Given the description of an element on the screen output the (x, y) to click on. 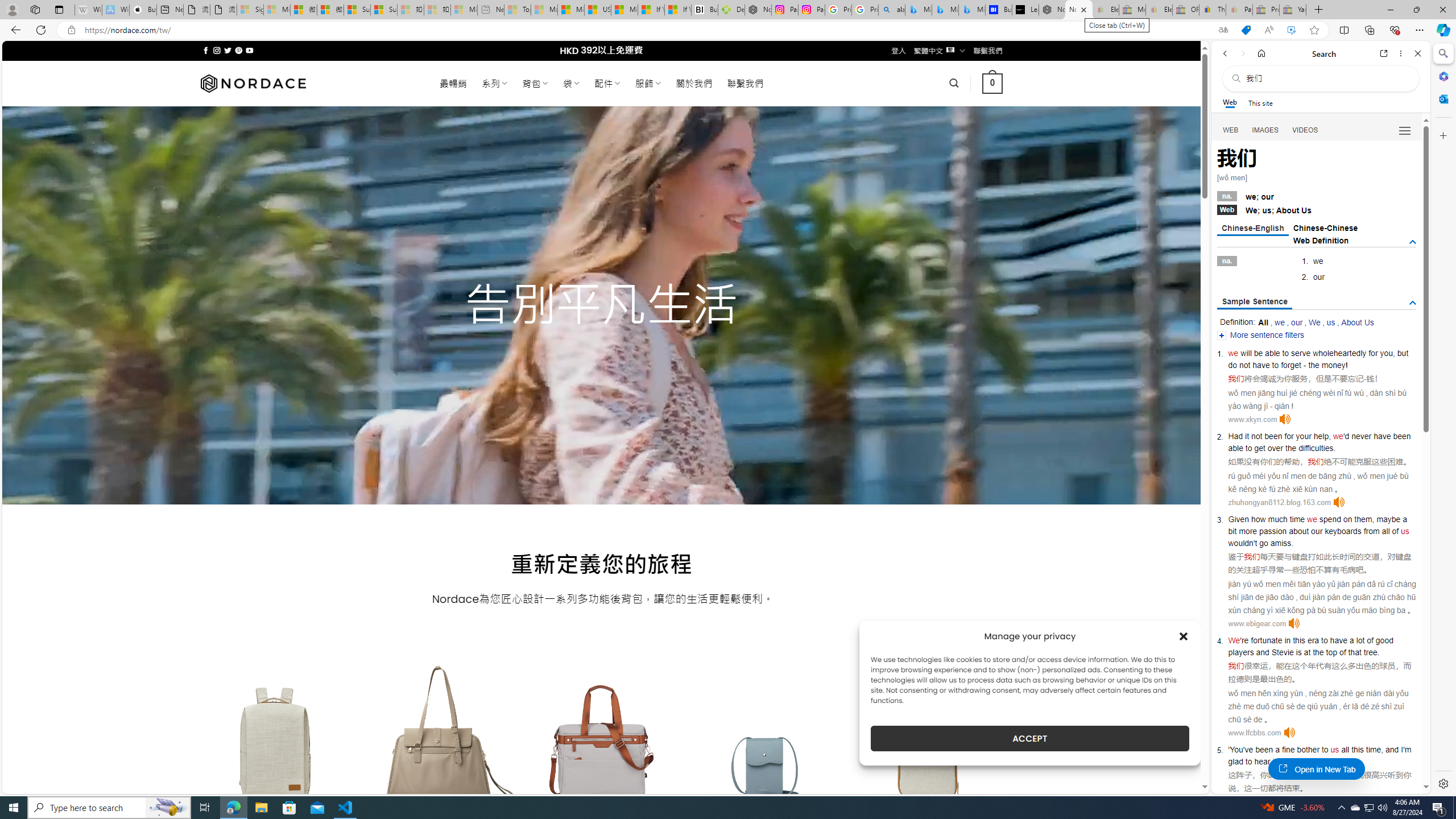
Descarga Driver Updater (731, 9)
your (1303, 435)
Top Stories - MSN - Sleeping (517, 9)
, (1381, 749)
amiss (1280, 542)
